Given the description of an element on the screen output the (x, y) to click on. 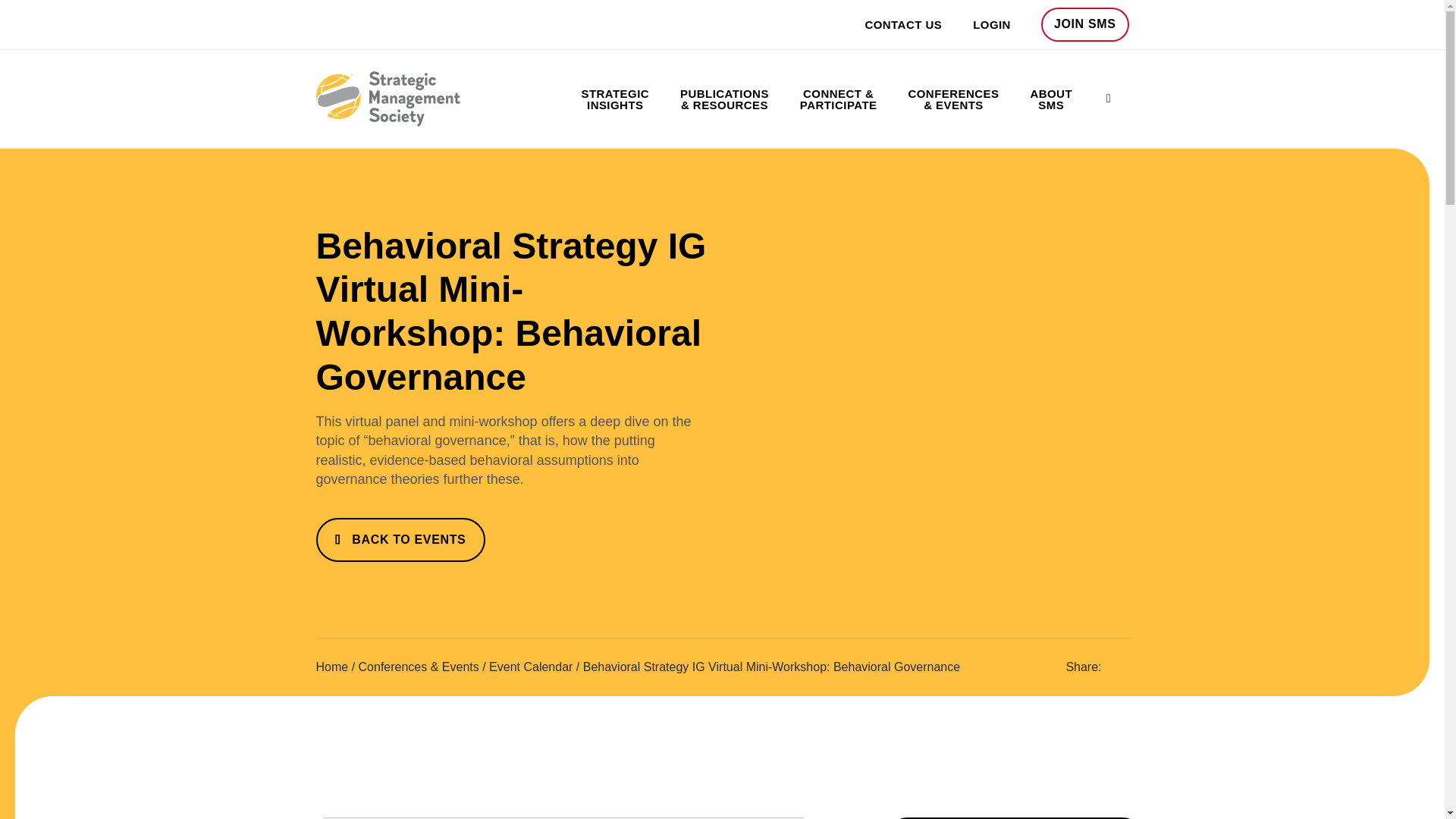
JOIN SMS (1084, 24)
CONTACT US (888, 24)
STRATEGIC INSIGHTS (614, 99)
logo-sms (387, 99)
LOGIN (976, 24)
